Given the description of an element on the screen output the (x, y) to click on. 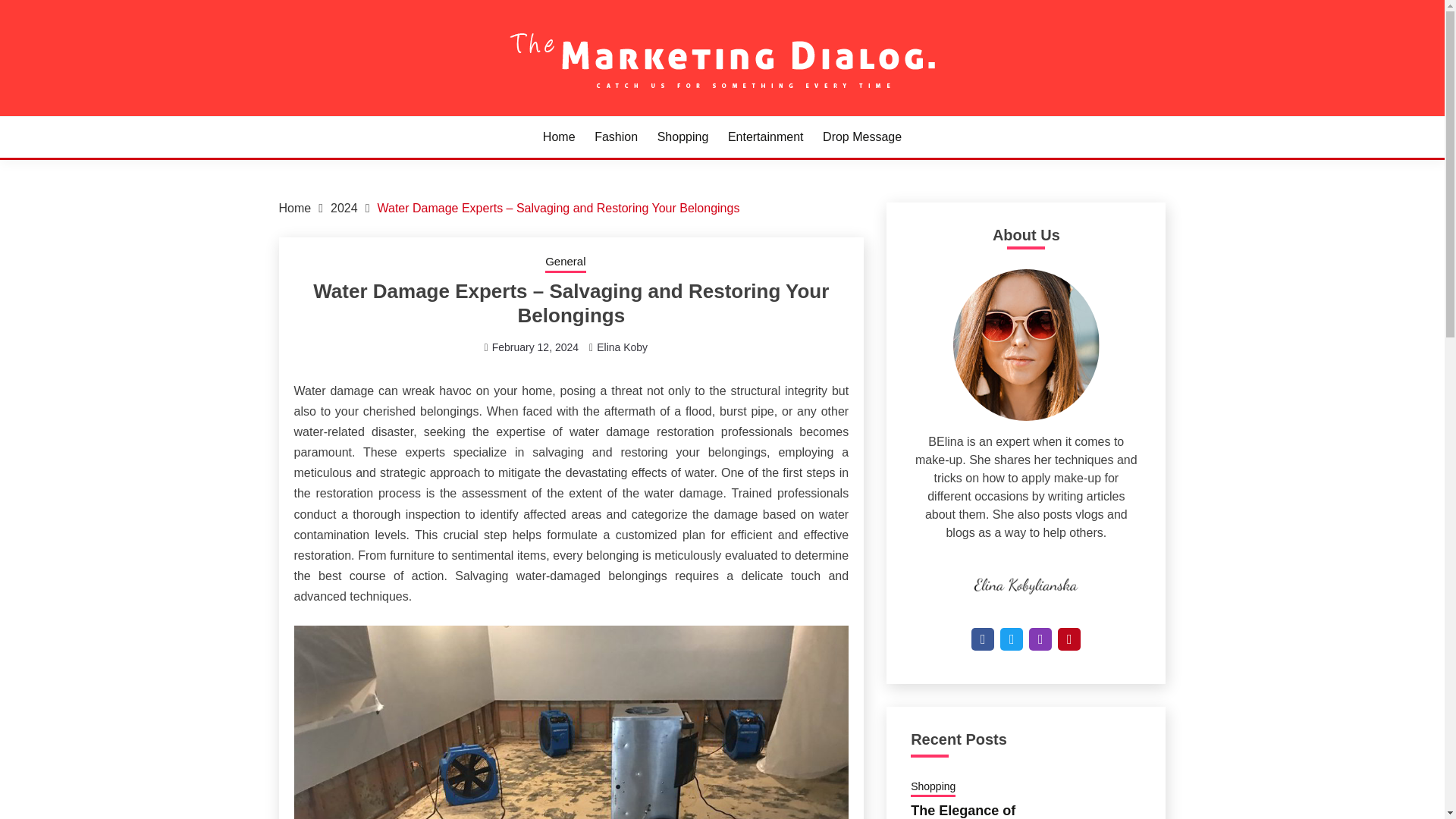
2024 (344, 207)
facebook (982, 639)
Fashion (615, 136)
Shopping (933, 787)
THE MARKETING DIALOG (453, 113)
Drop Message (861, 136)
Home (295, 207)
Shopping (683, 136)
Elina Koby (621, 346)
Entertainment (765, 136)
instagram (1040, 639)
pinterest (1069, 639)
The Elegance of Military Jewels a Tribute to Service (968, 811)
twitter (1011, 639)
February 12, 2024 (535, 346)
